Given the description of an element on the screen output the (x, y) to click on. 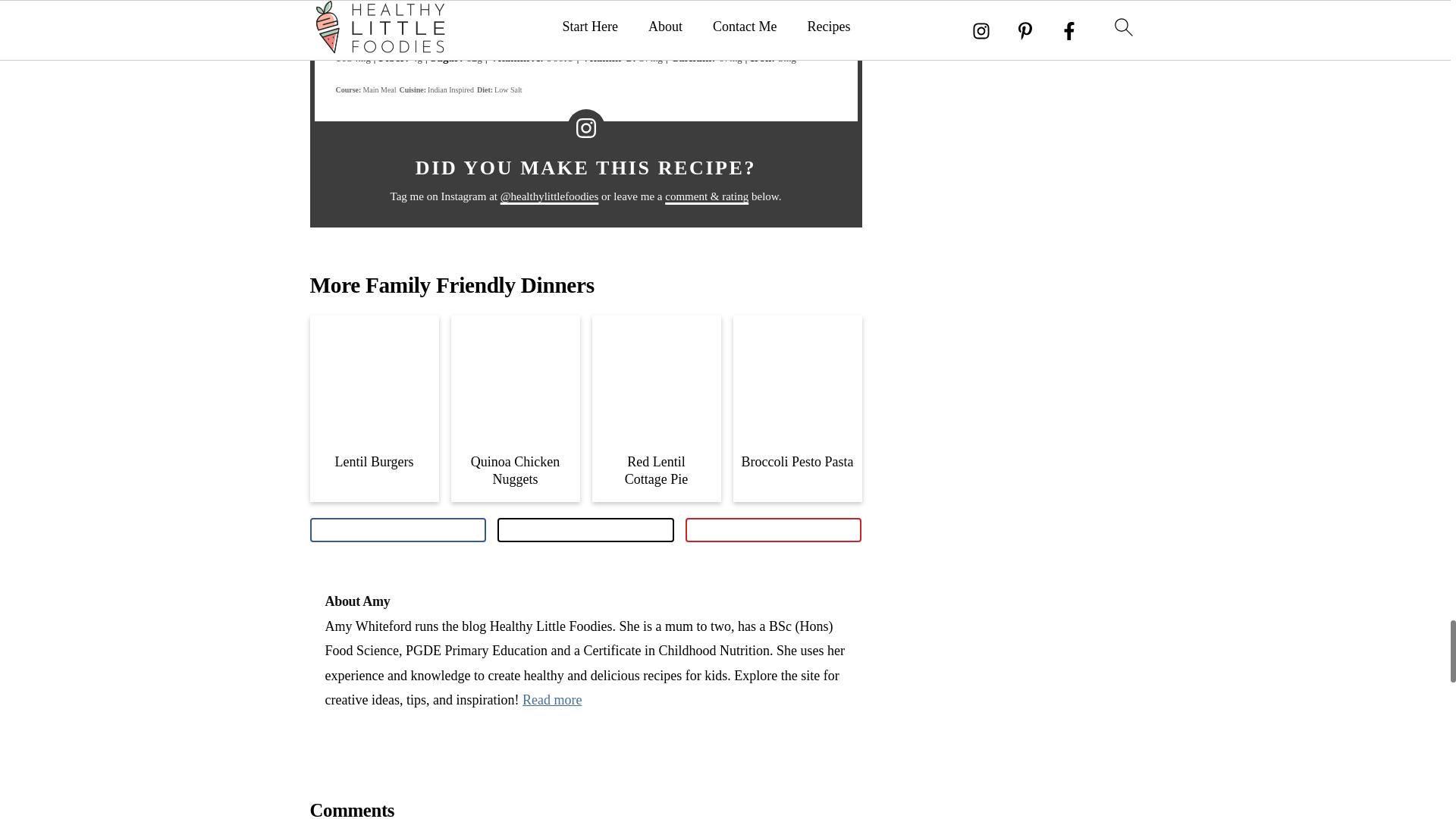
Save to Pinterest (773, 529)
Share on X (585, 529)
Share on Facebook (397, 529)
